Given the description of an element on the screen output the (x, y) to click on. 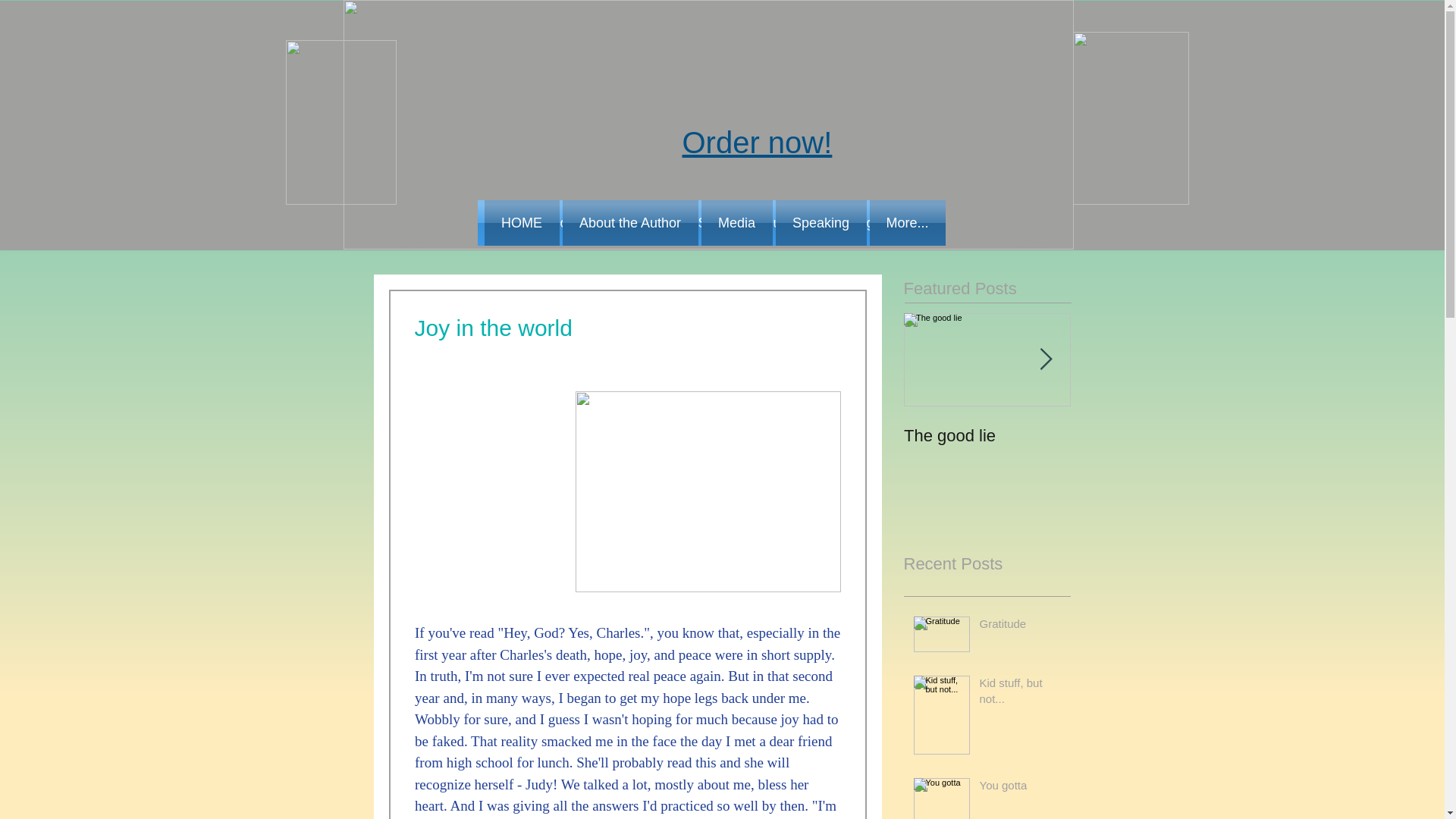
HOME (521, 222)
About the Author (630, 222)
Media (660, 239)
About the Author (581, 222)
Media (658, 222)
You gotta (1020, 788)
Buy the book (907, 239)
Blog (987, 419)
HOME (857, 222)
Kid stuff, but not... (412, 239)
Speaking (1020, 693)
The good lie (719, 222)
HOME (987, 435)
Media (504, 222)
